Given the description of an element on the screen output the (x, y) to click on. 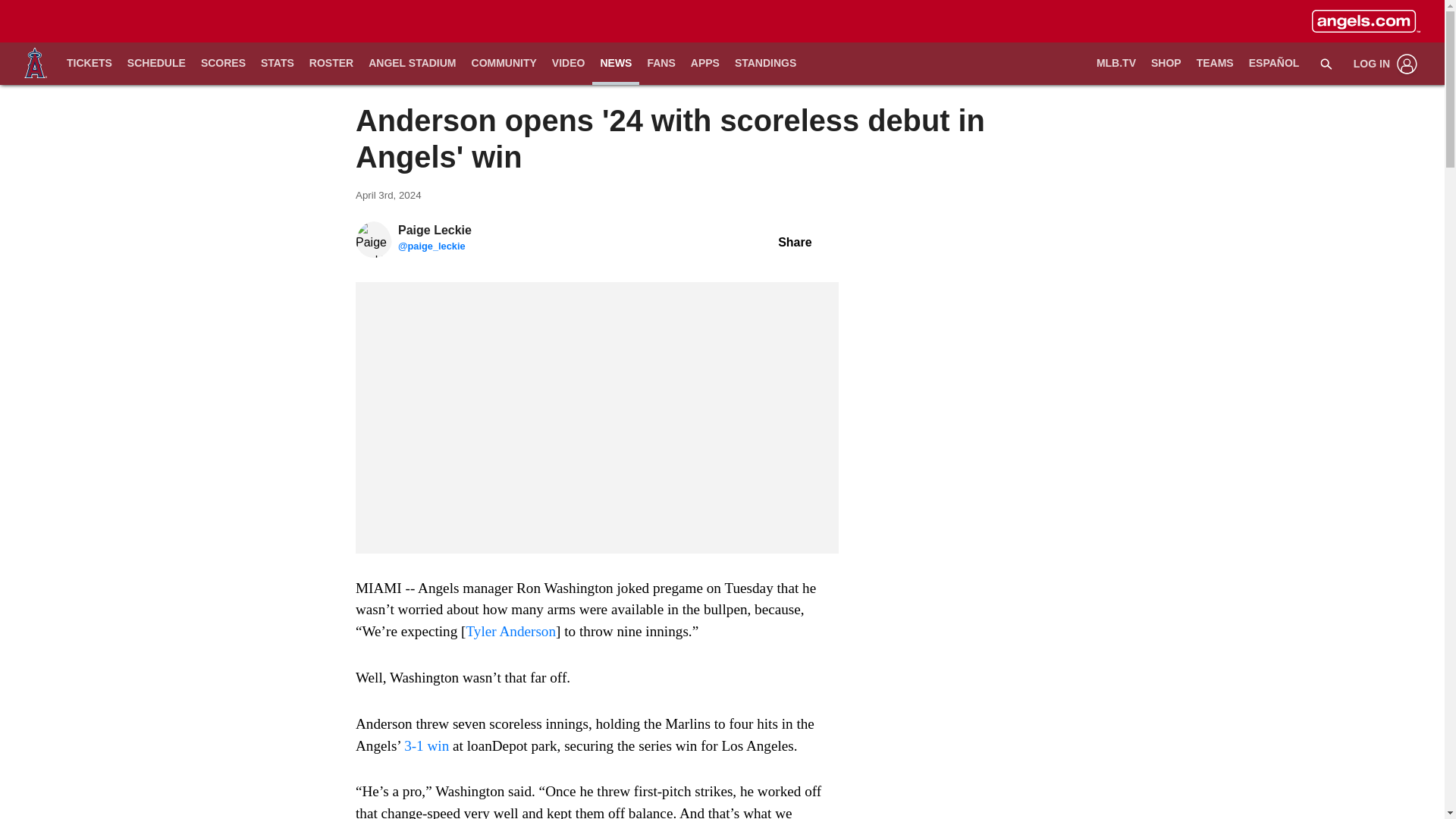
TICKETS (89, 63)
search-109484 (1326, 63)
SCHEDULE (156, 63)
SCORES (223, 63)
STATS (277, 63)
